Given the description of an element on the screen output the (x, y) to click on. 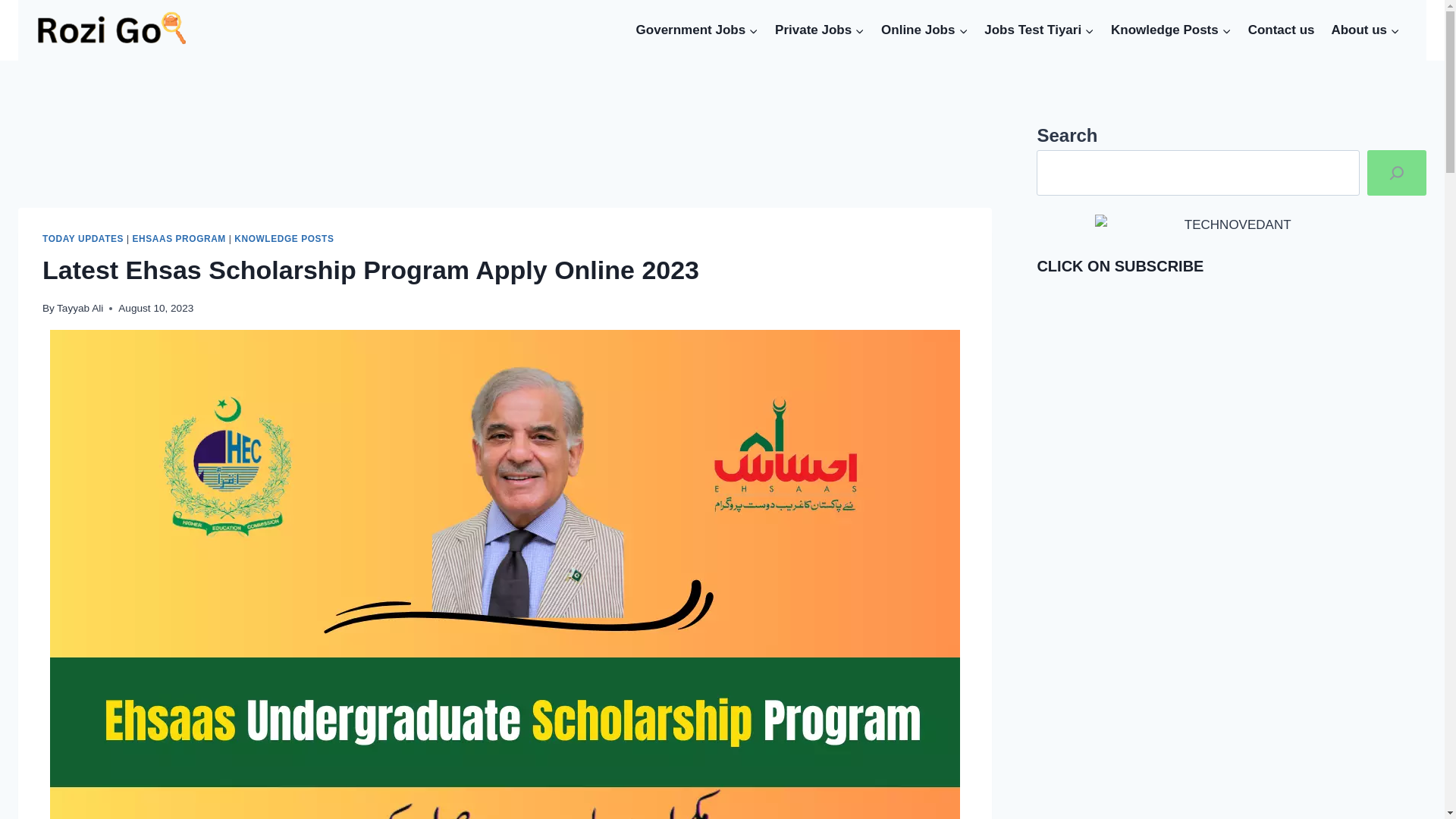
Contact us (1281, 30)
Knowledge Posts (1171, 30)
About us (1364, 30)
EHSAAS PROGRAM (178, 238)
Government Jobs (697, 30)
TODAY UPDATES (82, 238)
Online Jobs (923, 30)
Jobs Test Tiyari (1038, 30)
Private Jobs (819, 30)
